Given the description of an element on the screen output the (x, y) to click on. 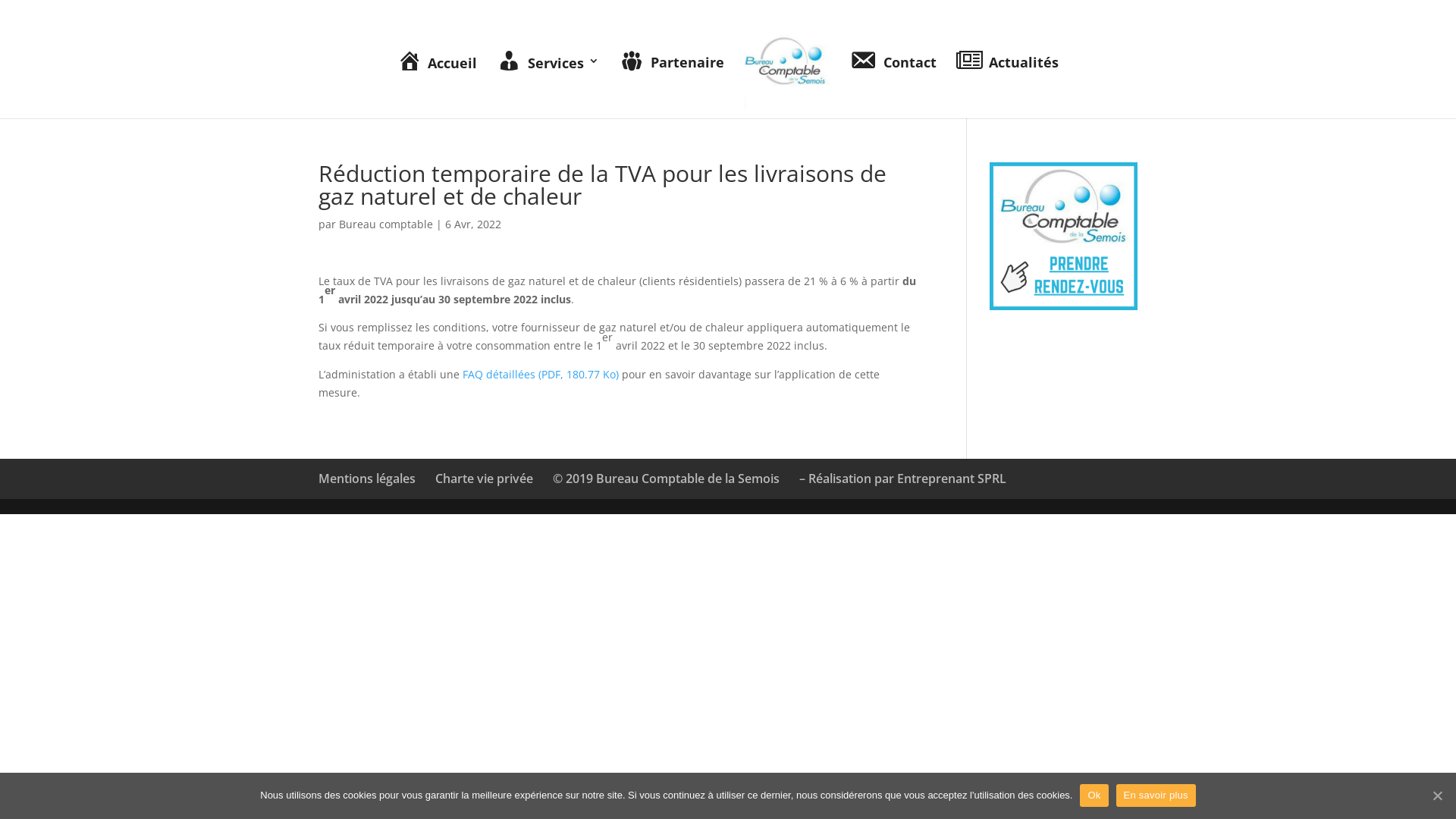
En savoir plus Element type: text (1155, 795)
Ok Element type: text (1093, 795)
Services Element type: text (547, 86)
Accueil Element type: text (436, 86)
Partenaire Element type: text (671, 86)
Contact Element type: text (892, 85)
Bureau comptable Element type: text (385, 223)
